Given the description of an element on the screen output the (x, y) to click on. 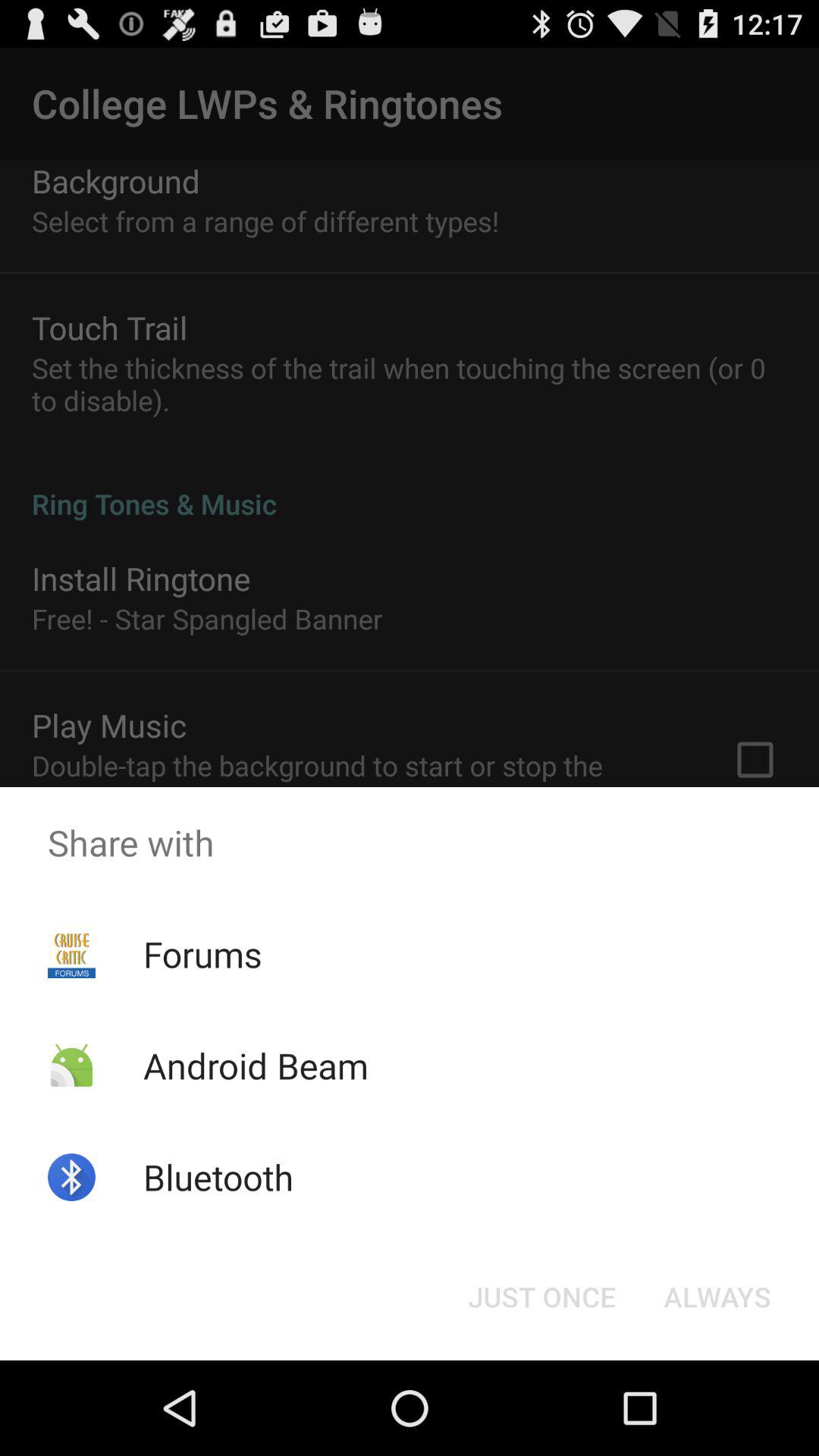
launch icon below forums (255, 1065)
